Given the description of an element on the screen output the (x, y) to click on. 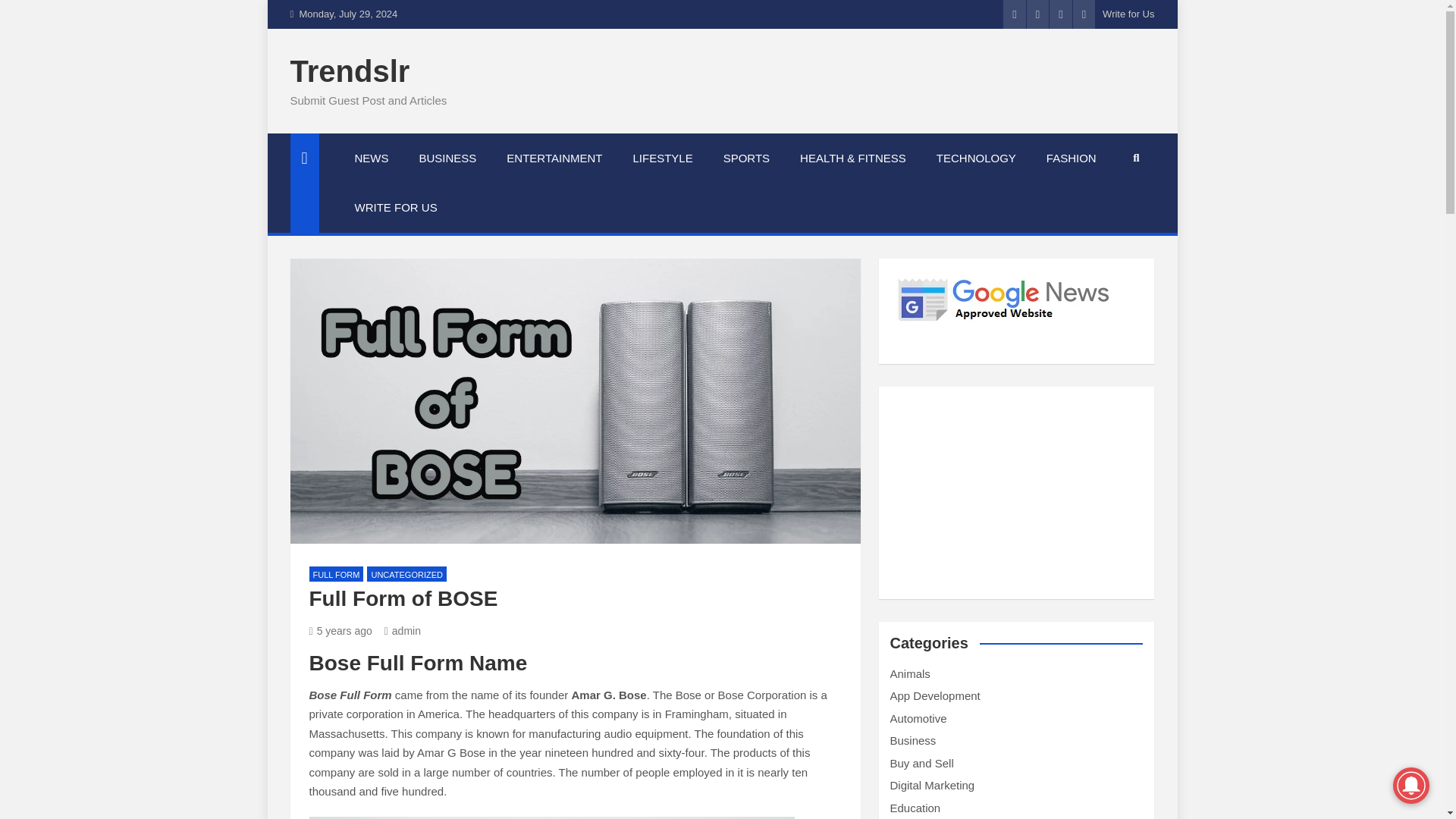
SPORTS (745, 158)
5 years ago (340, 630)
NEWS (371, 158)
Full Form of BOSE (340, 630)
LIFESTYLE (662, 158)
Write for Us (1128, 13)
FULL FORM (336, 574)
Trendslr (349, 70)
TECHNOLOGY (975, 158)
BUSINESS (447, 158)
ENTERTAINMENT (554, 158)
admin (402, 630)
WRITE FOR US (395, 207)
Advertisement (1014, 493)
FASHION (1071, 158)
